Given the description of an element on the screen output the (x, y) to click on. 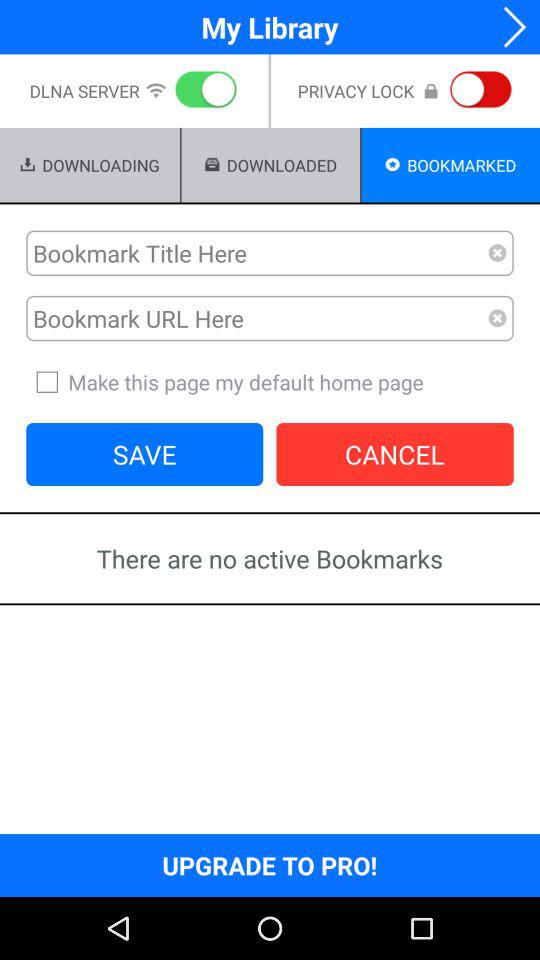
wifi enabling switch (202, 91)
